Given the description of an element on the screen output the (x, y) to click on. 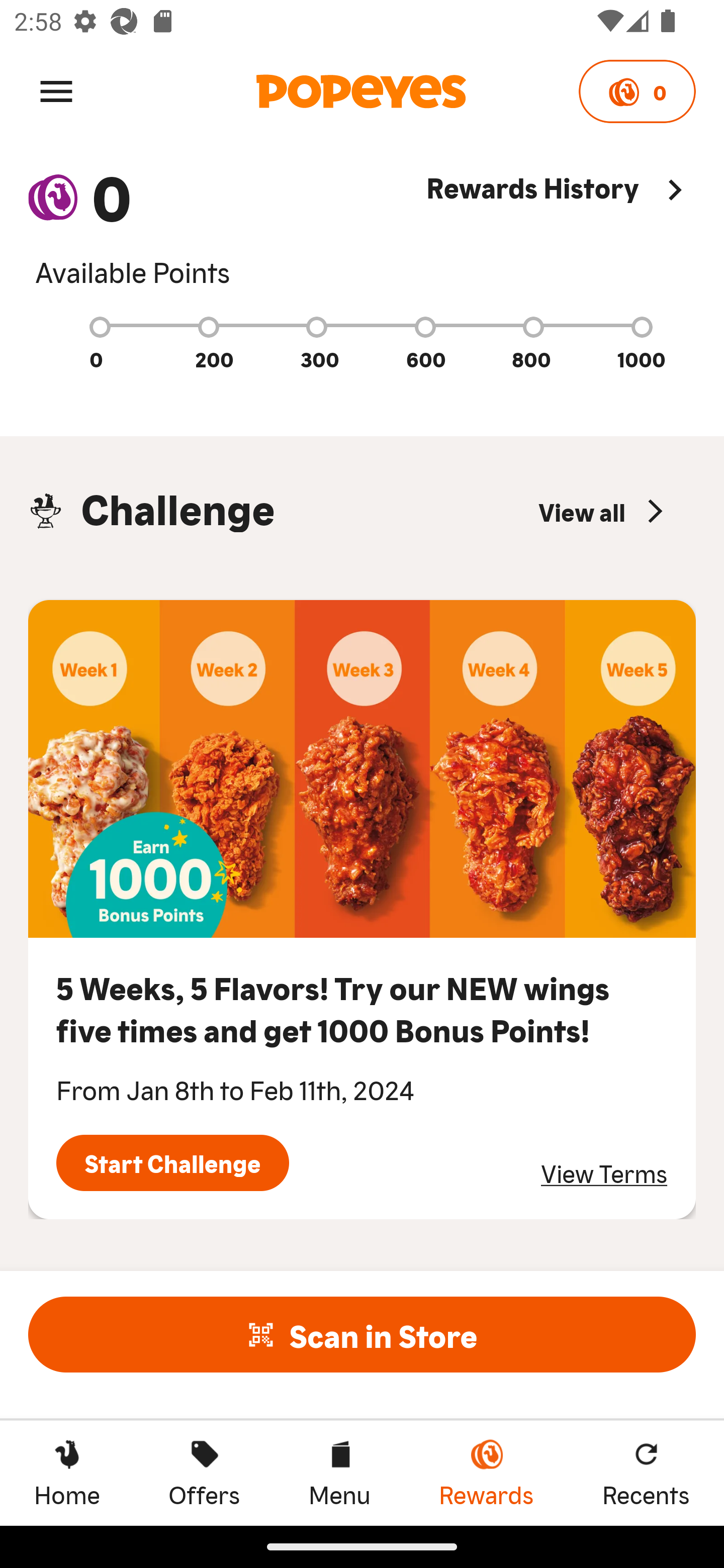
Menu  (56, 90)
0 Points 0 (636, 91)
Rewards History Rewards History  (560, 228)
View all (602, 511)
quest image (361, 768)
Start Challenge (172, 1163)
View Terms (603, 1172)
Scan in Store  Scan in Store (361, 1334)
Home Home Home (66, 1472)
Offers Offers Offers (203, 1472)
Menu Menu Menu (339, 1472)
Recents Recents Recents (646, 1472)
